Given the description of an element on the screen output the (x, y) to click on. 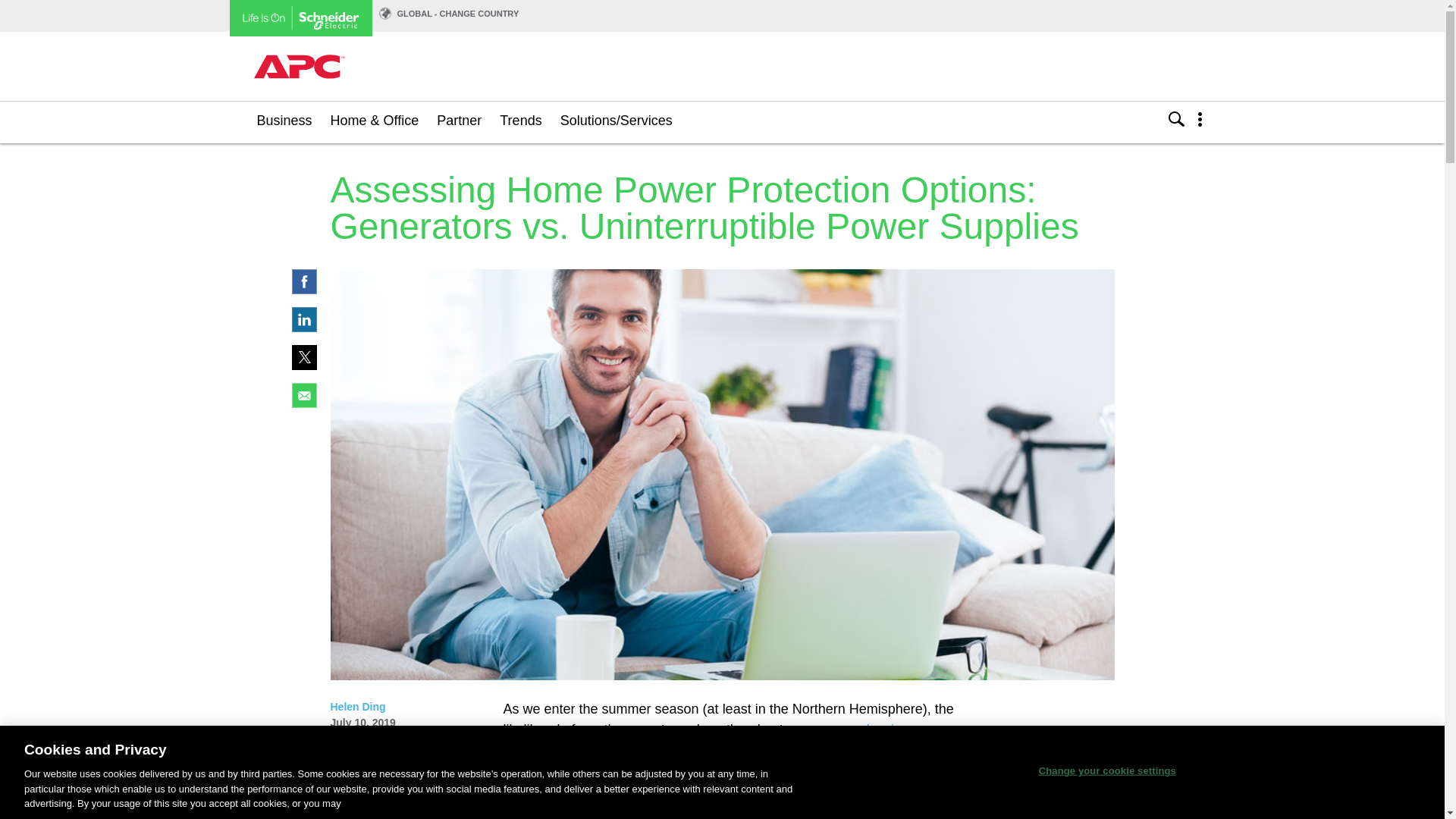
GLOBAL - CHANGE COUNTRY (458, 13)
Business (283, 120)
Trends (520, 120)
Share on Twitter (303, 365)
Share on Facebook (303, 289)
Share on LinkedIn (303, 327)
Partner (459, 120)
Send this article to a friend! (303, 403)
